Given the description of an element on the screen output the (x, y) to click on. 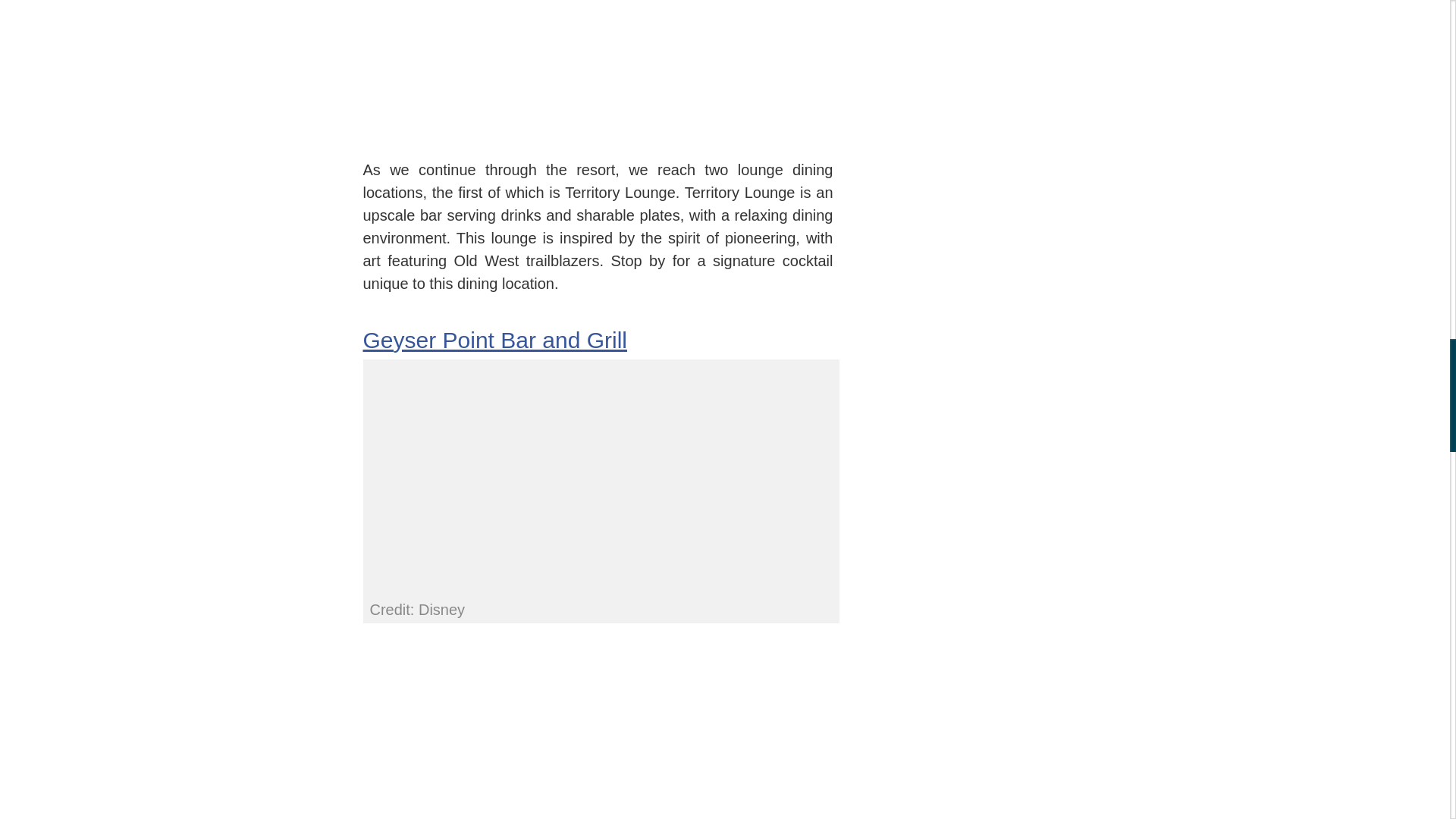
Geyser Point Bar and Grill (494, 339)
